Given the description of an element on the screen output the (x, y) to click on. 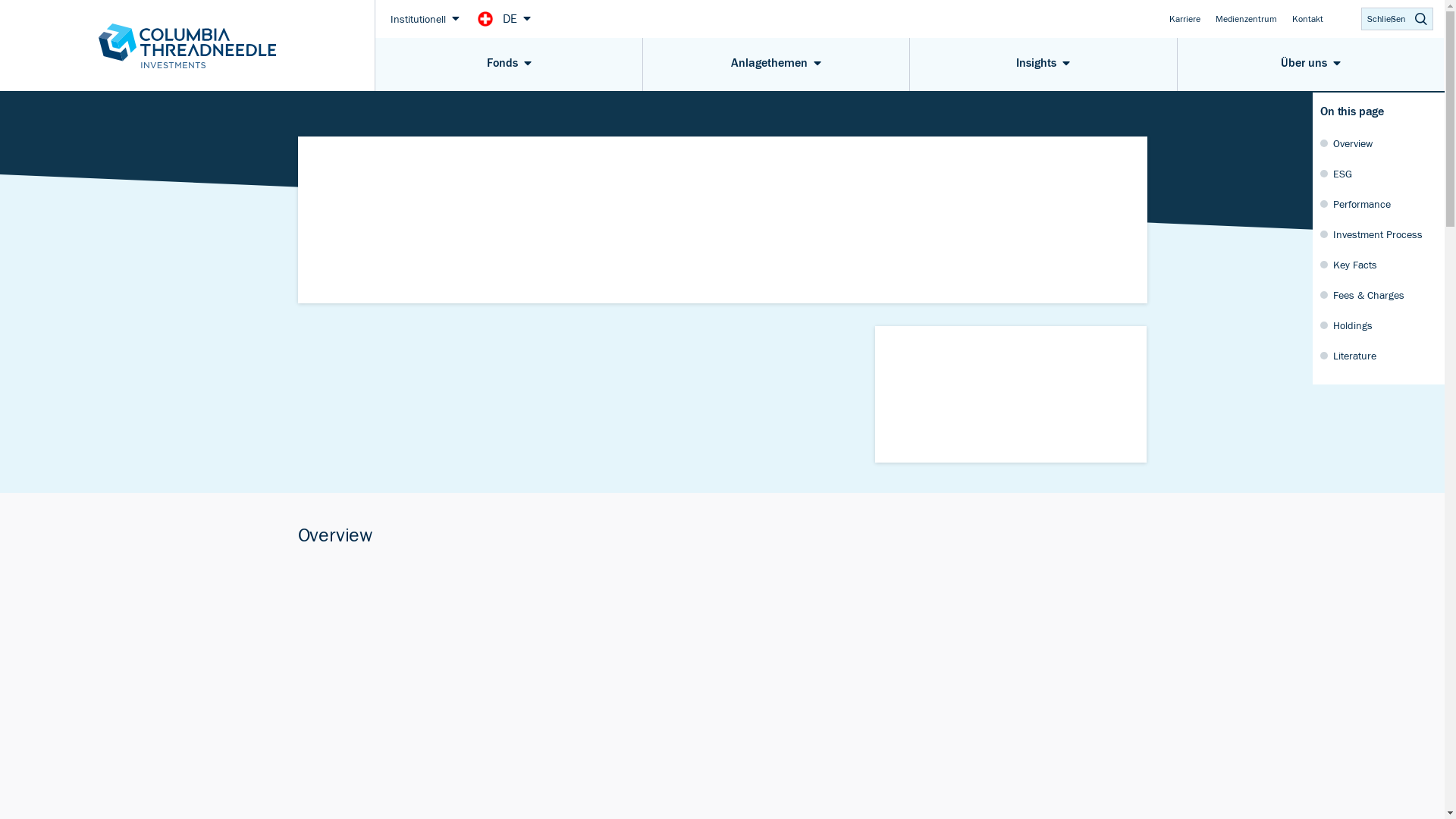
Anlagethemen Element type: text (776, 64)
Karriere Element type: text (1184, 18)
Medienzentrum Element type: text (1246, 18)
Performance Element type: text (1378, 203)
ESG Element type: text (1378, 172)
Literature Element type: text (1378, 354)
Fonds Element type: text (508, 64)
Fees & Charges Element type: text (1378, 294)
DE Element type: text (516, 18)
Overview Element type: text (1378, 142)
Key Facts Element type: text (1378, 263)
Institutionell Element type: text (425, 17)
Holdings Element type: text (1378, 324)
Insights Element type: text (1043, 64)
Investment Process Element type: text (1378, 233)
Kontakt Element type: text (1307, 18)
